Given the description of an element on the screen output the (x, y) to click on. 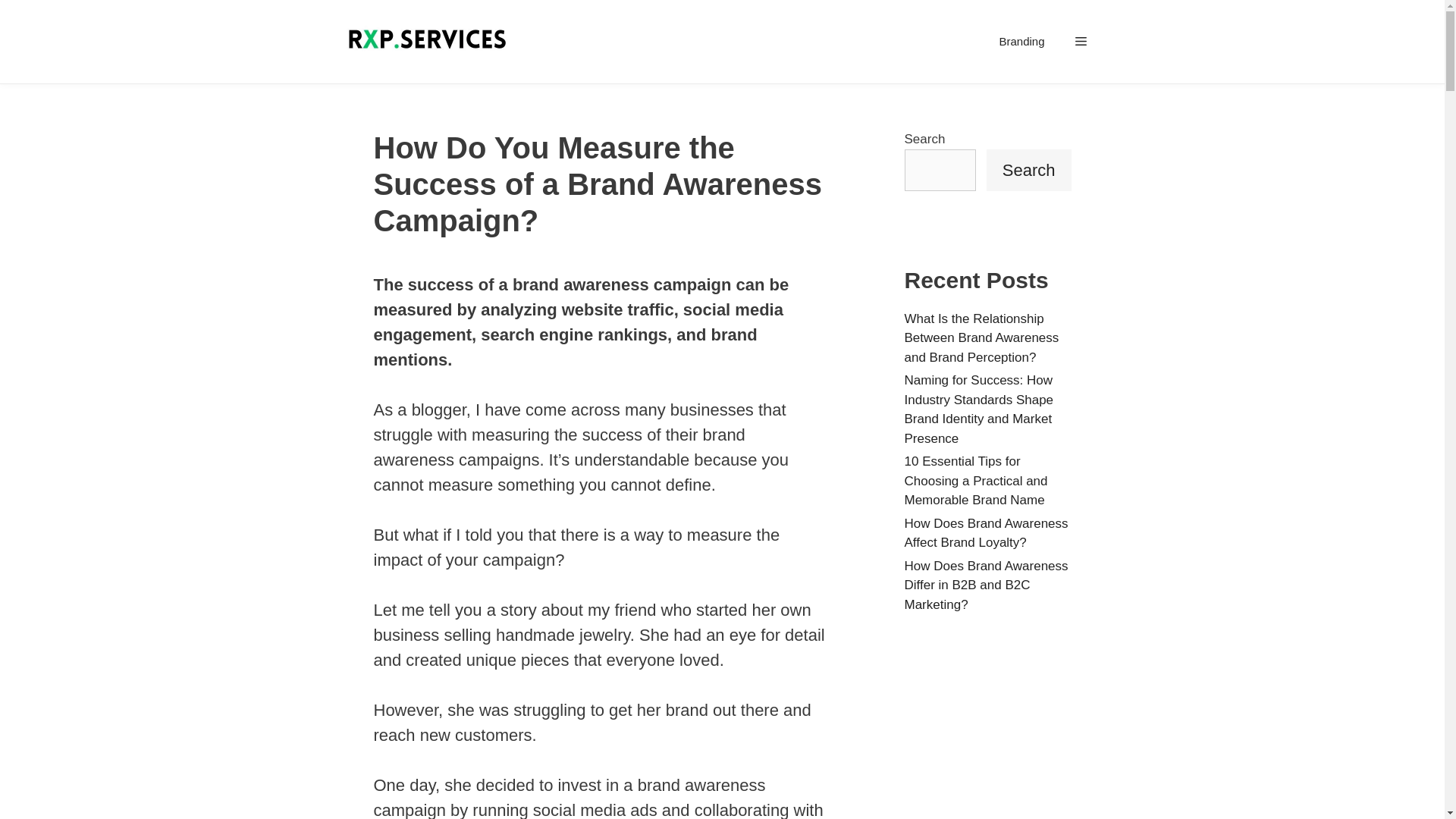
RXP Services (425, 41)
Branding (1021, 41)
RXP Services (429, 41)
How Does Brand Awareness Affect Brand Loyalty? (985, 532)
Search (1029, 169)
How Does Brand Awareness Differ in B2B and B2C Marketing? (985, 583)
